Given the description of an element on the screen output the (x, y) to click on. 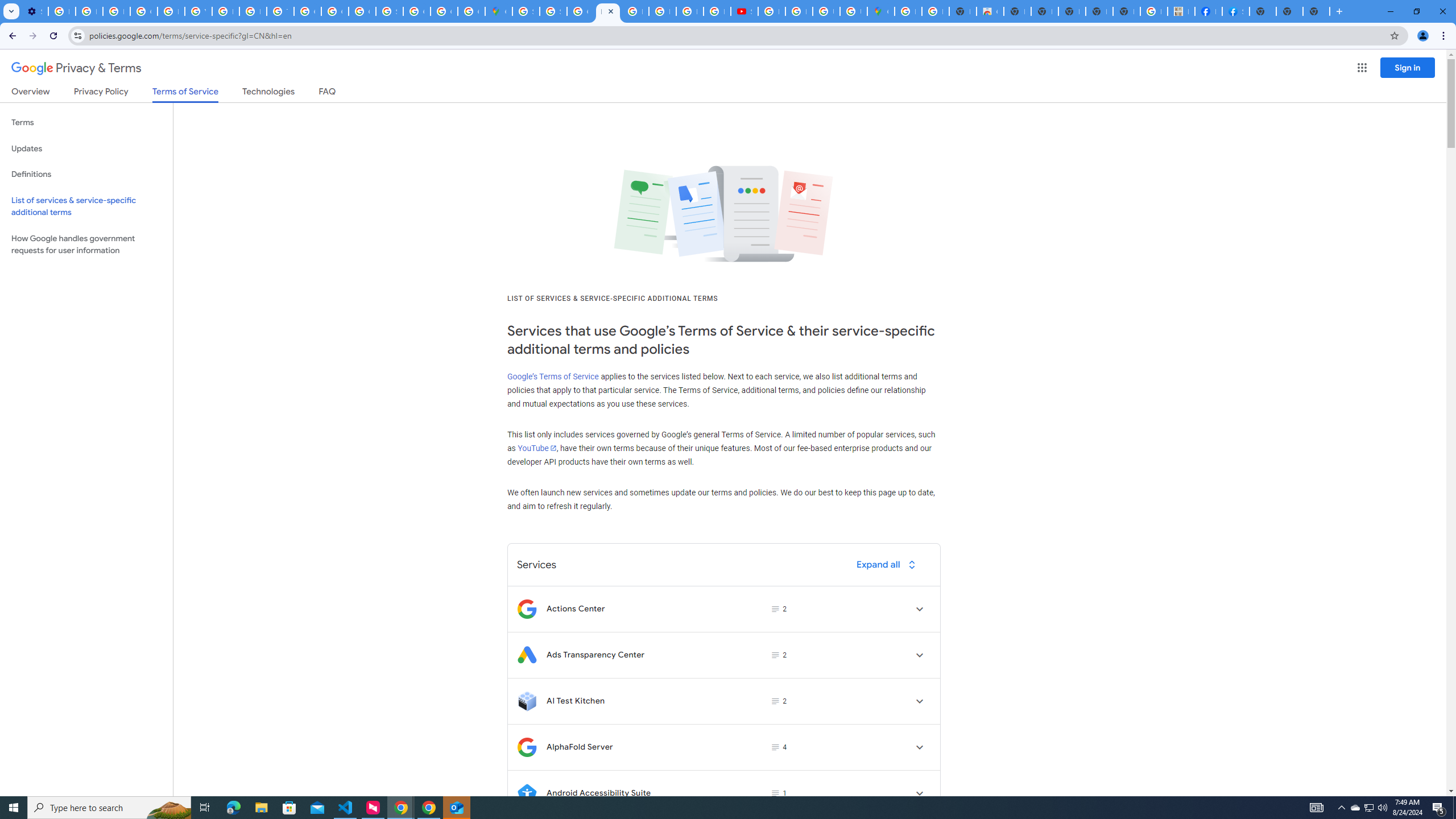
Privacy Help Center - Policies Help (662, 11)
Chrome Web Store (990, 11)
Google Maps (498, 11)
How Chrome protects your passwords - Google Chrome Help (771, 11)
Sign in - Google Accounts (525, 11)
